Given the description of an element on the screen output the (x, y) to click on. 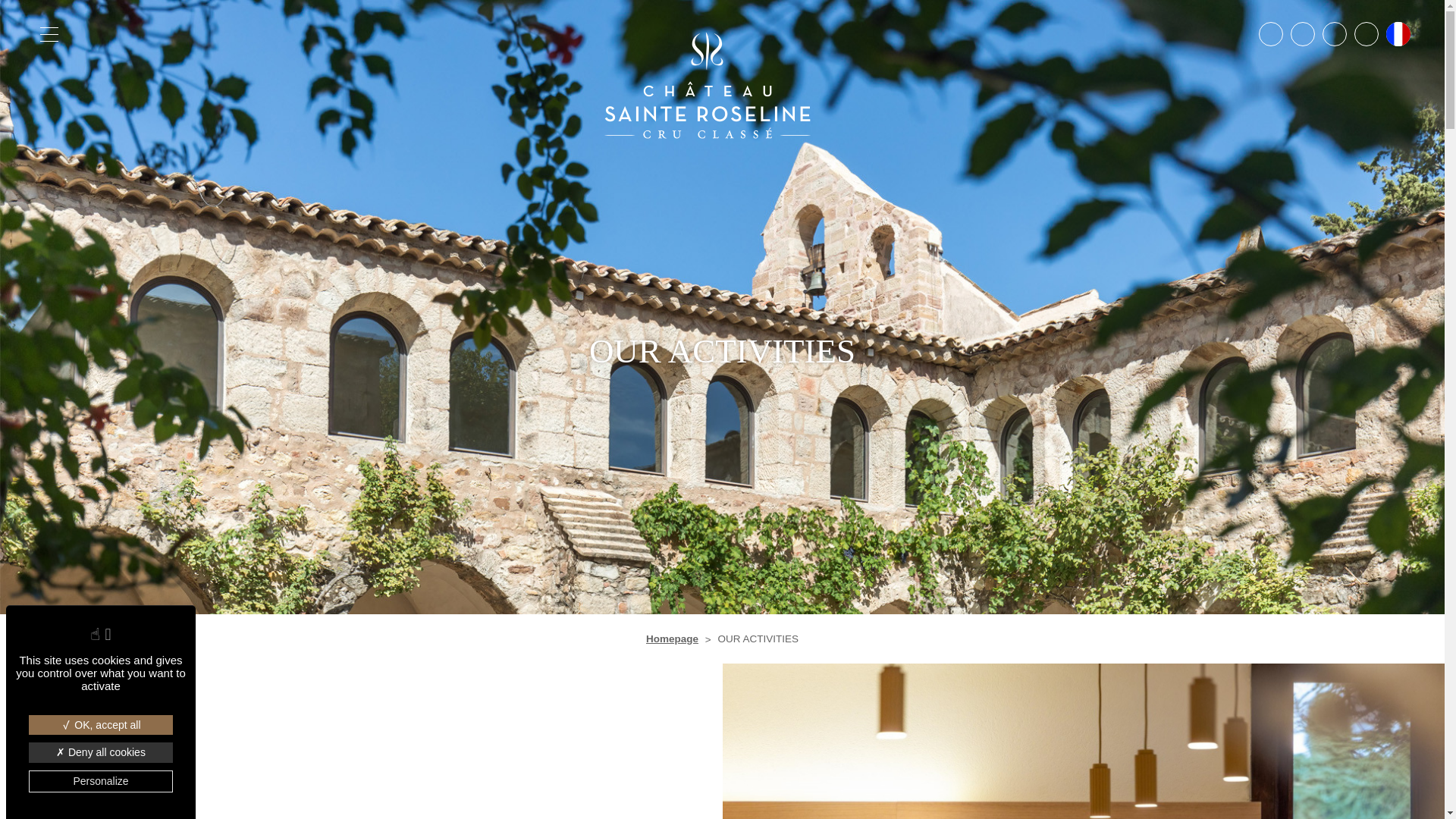
Homepage (672, 638)
Retrouvez-nous sur LinkedIn (1302, 33)
Suivez-nous sur Facebook (1334, 33)
